Given the description of an element on the screen output the (x, y) to click on. 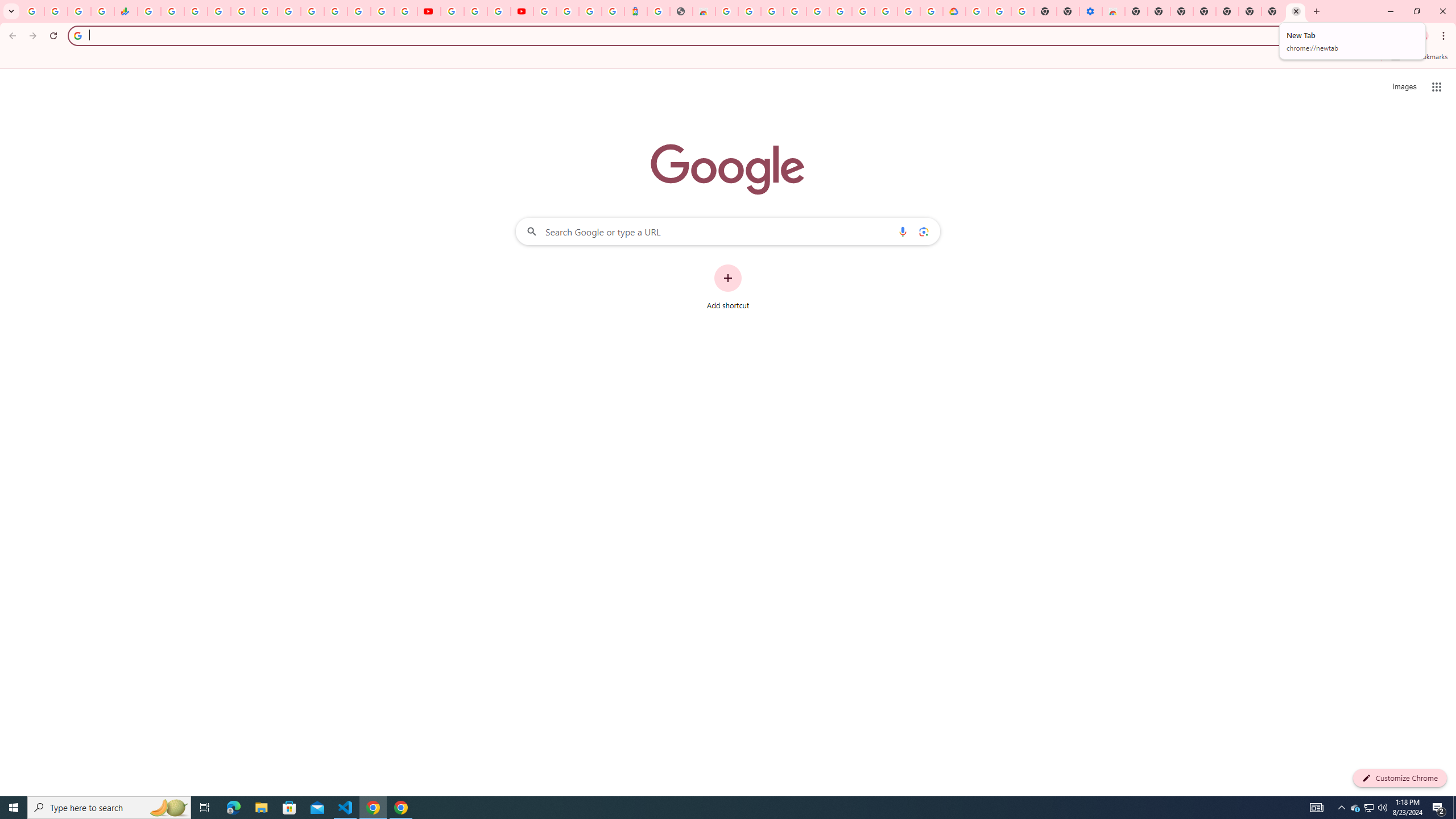
Google Account Help (475, 11)
Google Account Help (999, 11)
YouTube (451, 11)
